Given the description of an element on the screen output the (x, y) to click on. 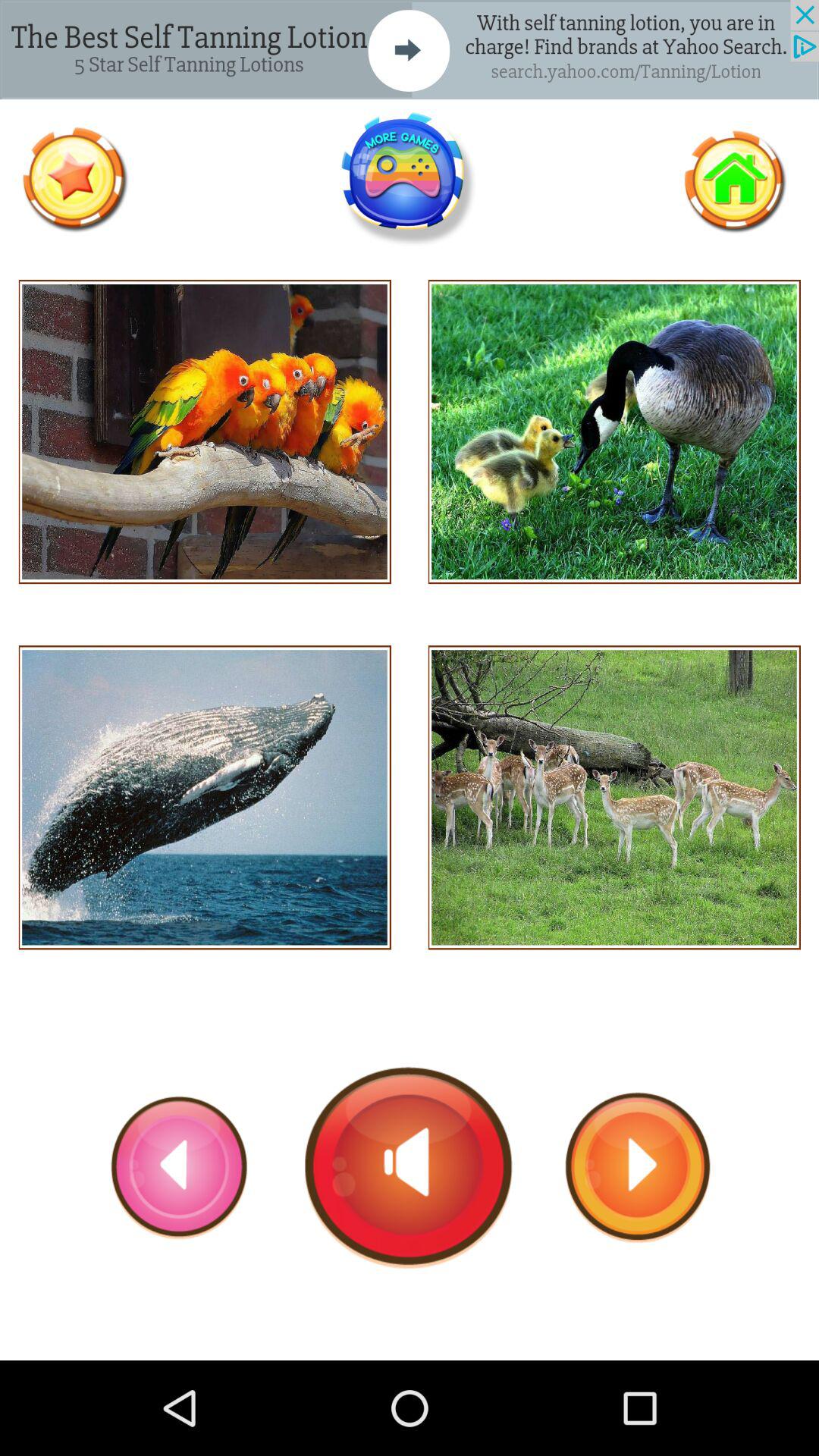
listen to audio (614, 797)
